Given the description of an element on the screen output the (x, y) to click on. 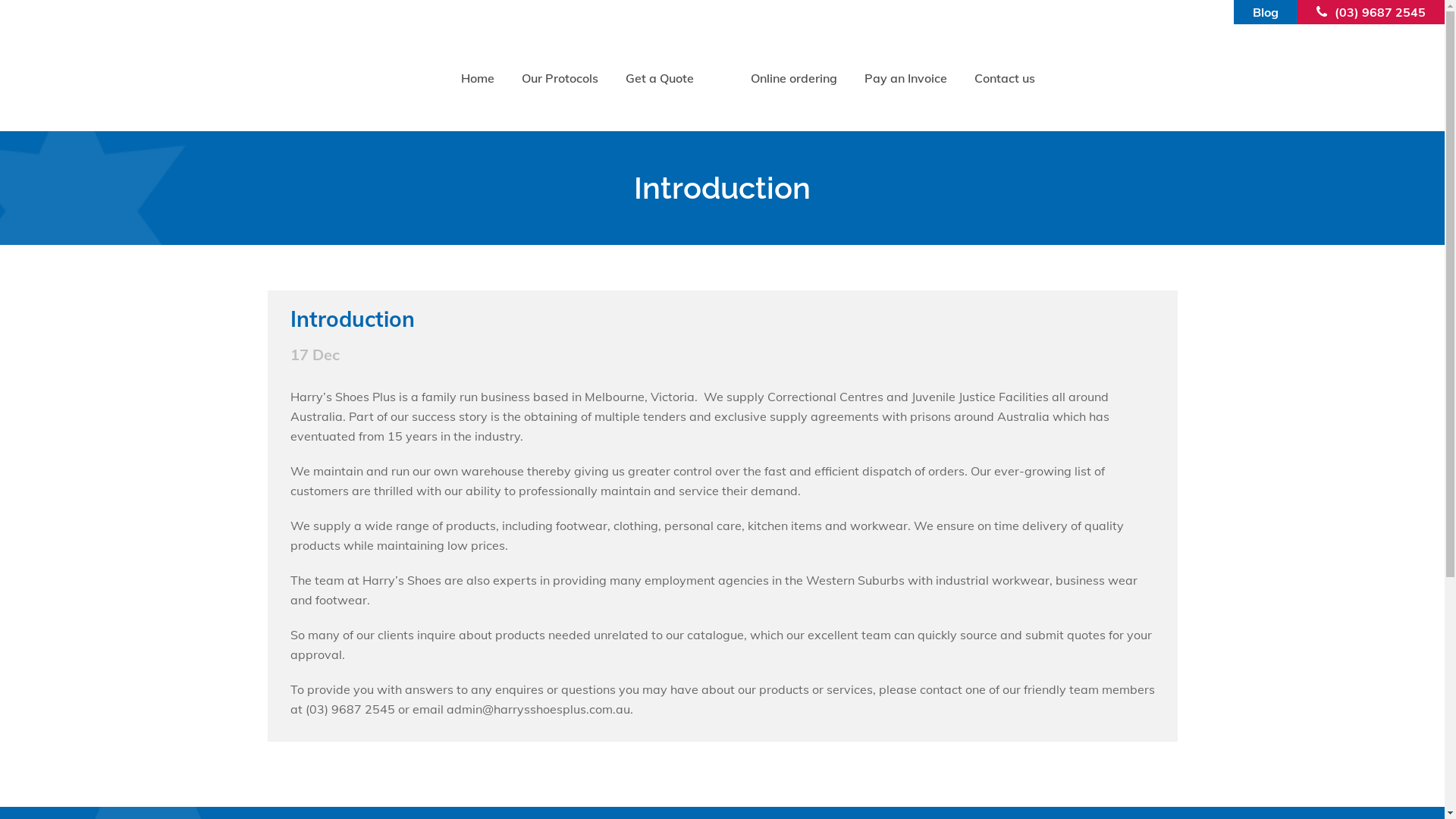
Our Protocols Element type: text (559, 78)
Pay an Invoice Element type: text (905, 78)
Blog Element type: text (1265, 11)
Get a Quote Element type: text (659, 78)
(03) 9687 2545 Element type: text (1379, 11)
Online ordering Element type: text (793, 78)
Contact us Element type: text (1004, 78)
Home Element type: text (477, 78)
